Given the description of an element on the screen output the (x, y) to click on. 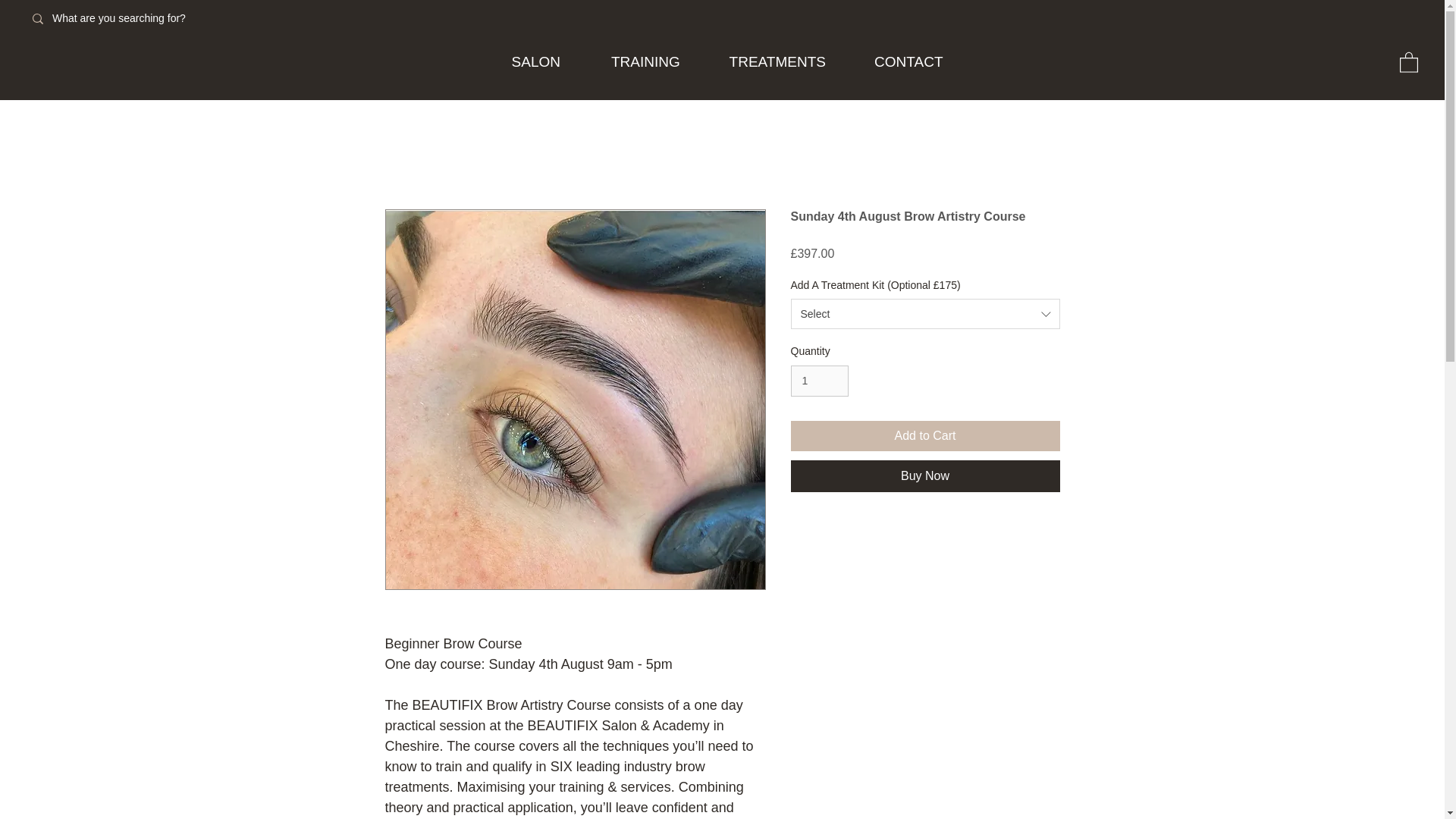
TRAINING (645, 62)
CONTACT (908, 62)
TREATMENTS (777, 62)
Select (924, 313)
Buy Now (924, 476)
SALON (535, 62)
Add to Cart (924, 435)
1 (818, 380)
